Given the description of an element on the screen output the (x, y) to click on. 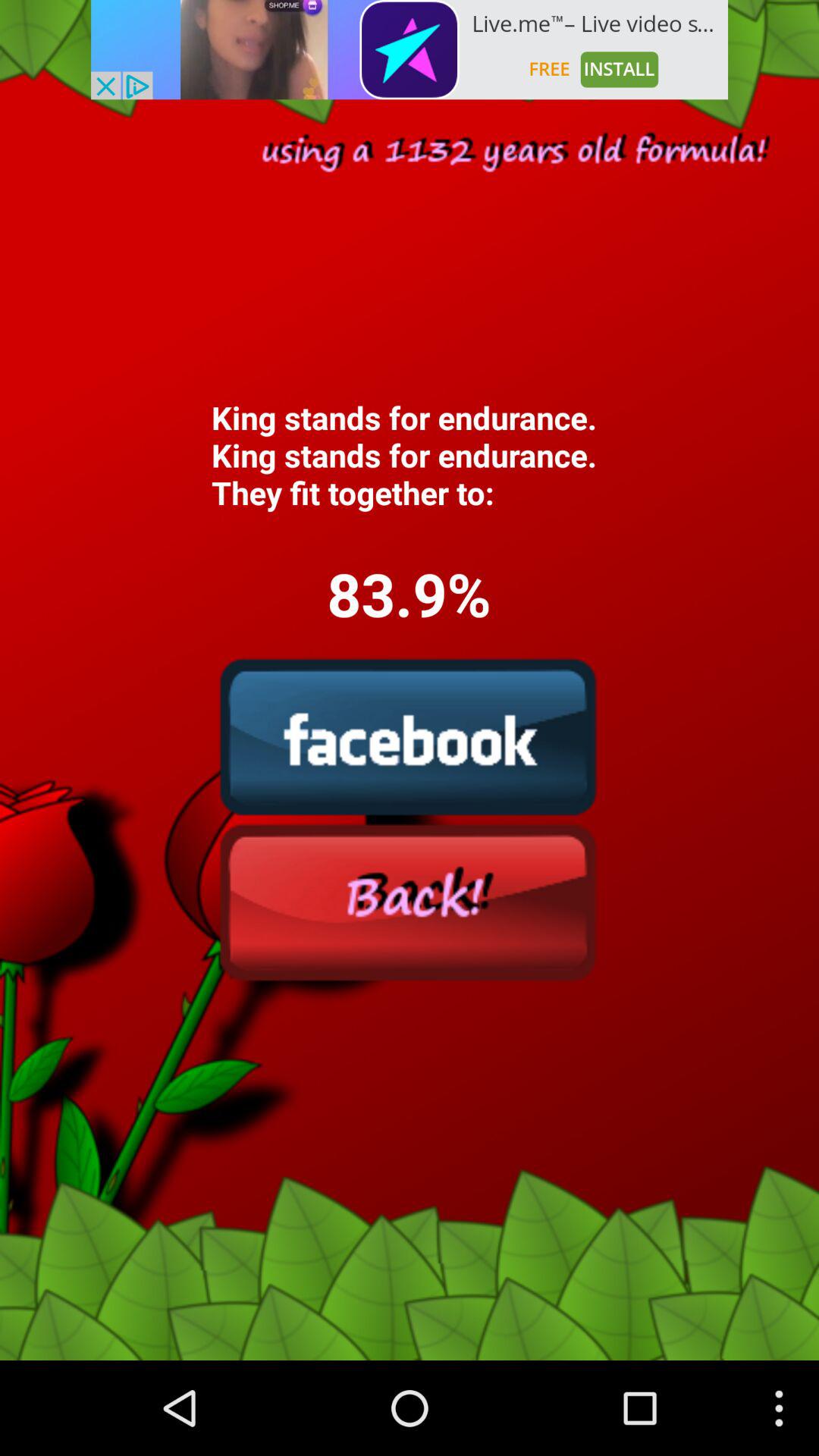
go to facebook option (408, 736)
